Given the description of an element on the screen output the (x, y) to click on. 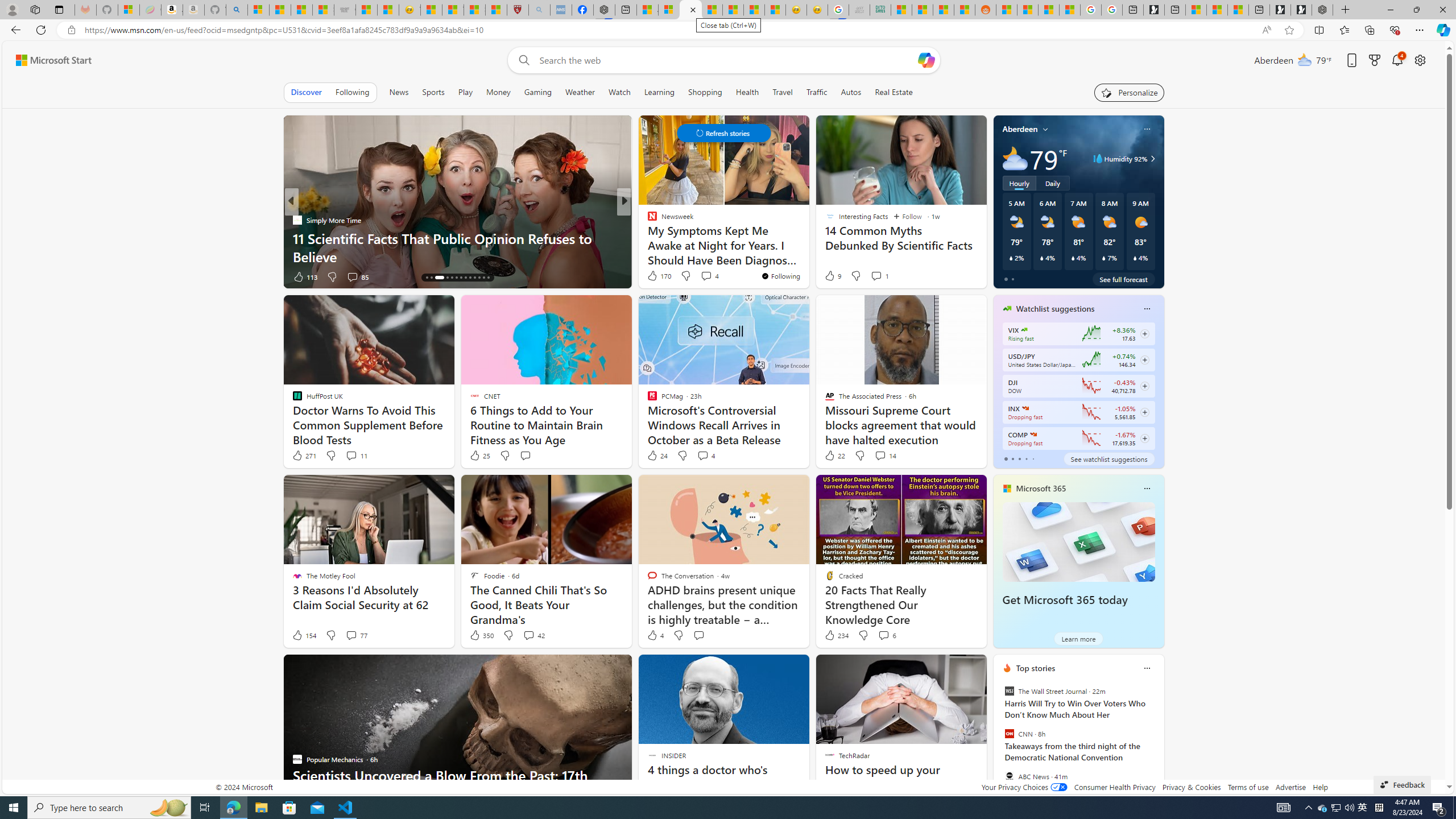
The Independent (647, 219)
Class: weather-arrow-glyph (1152, 158)
tab-4 (1032, 458)
AutomationID: tab-22 (470, 277)
AutomationID: tab-16 (439, 277)
Play (465, 92)
